Given the description of an element on the screen output the (x, y) to click on. 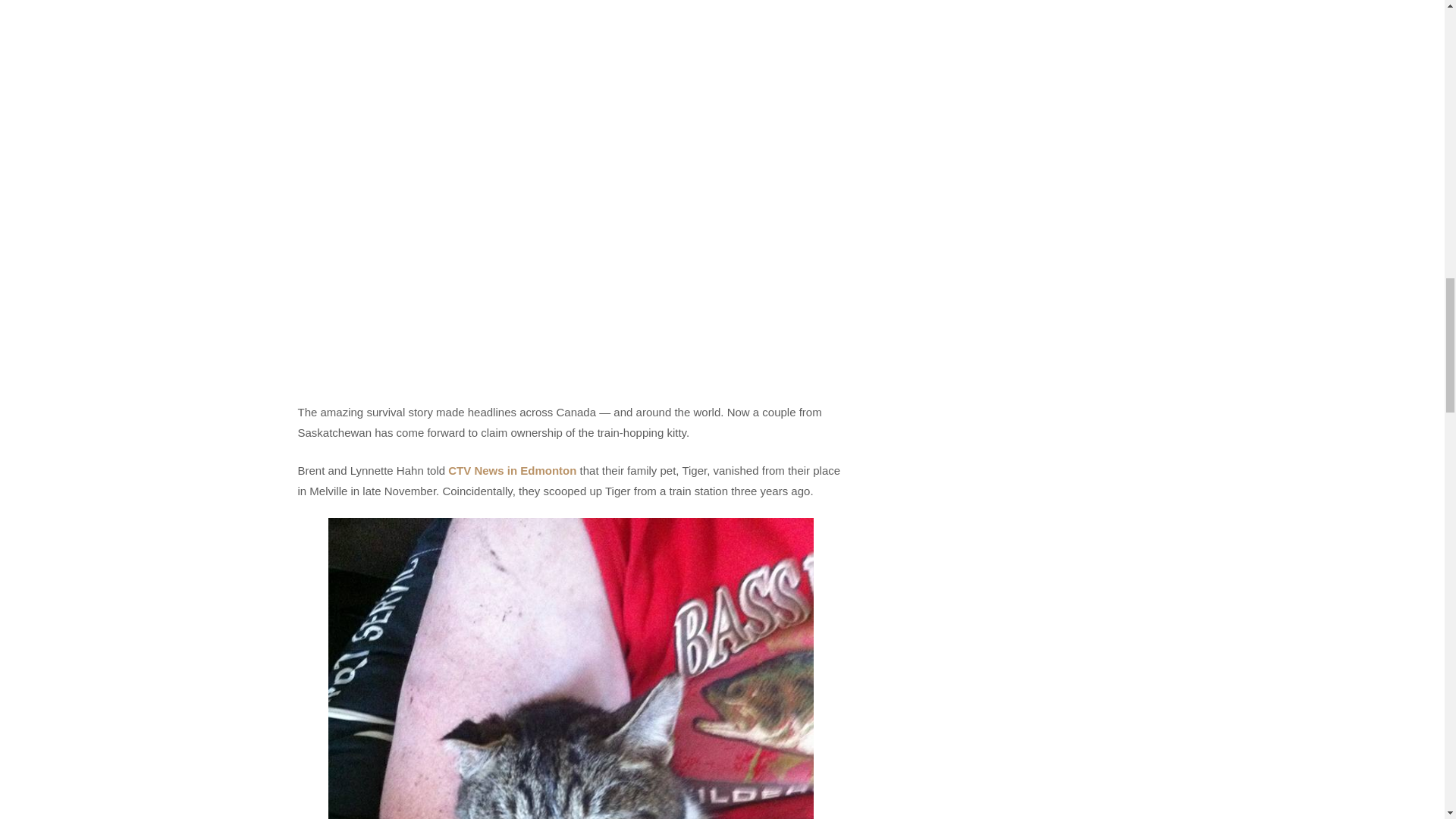
CTV News in Edmonton (512, 470)
